Given the description of an element on the screen output the (x, y) to click on. 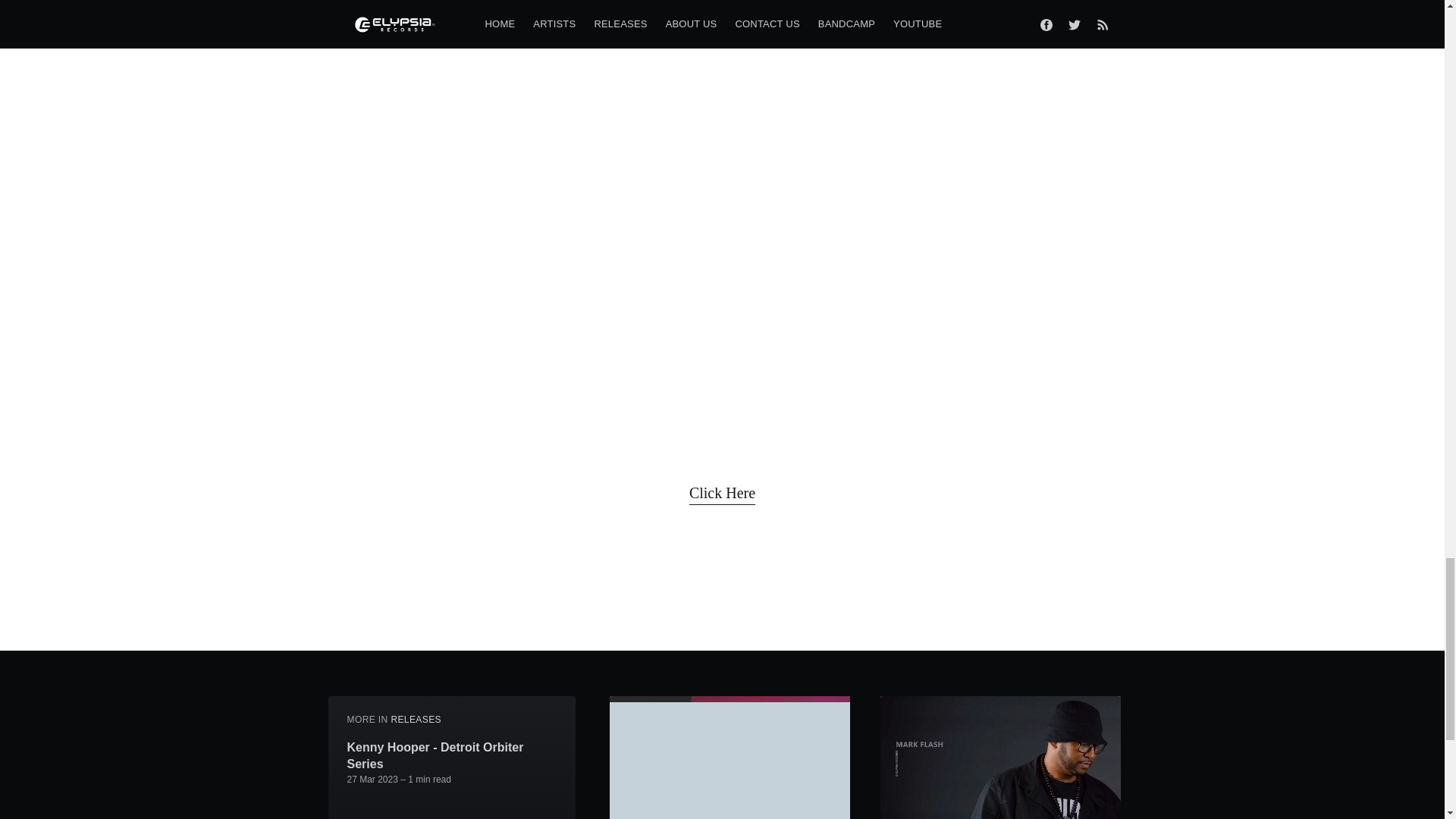
Orlando Voorn - I Have You ep (433, 817)
Click Here (721, 492)
Kenny Hooper - Detroit Orbiter Series (451, 755)
RELEASES (415, 719)
